Given the description of an element on the screen output the (x, y) to click on. 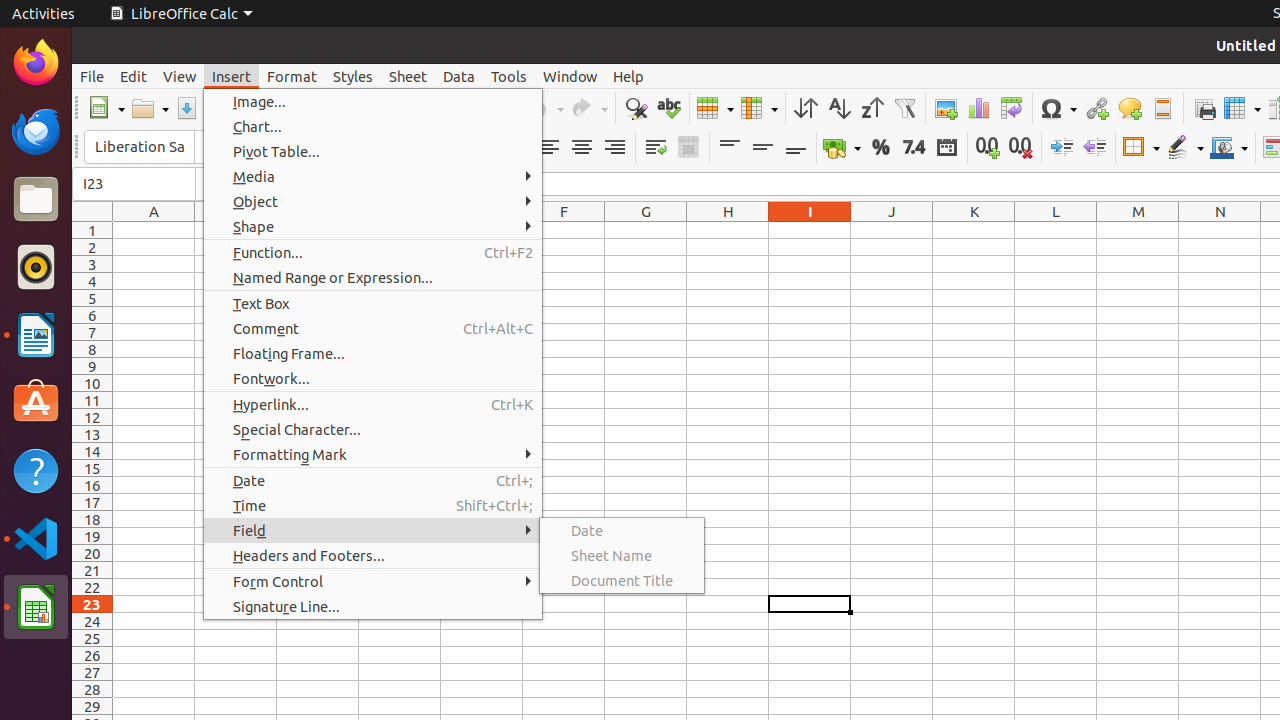
Freeze Rows and Columns Element type: push-button (1242, 108)
A1 Element type: table-cell (154, 230)
Edit Element type: menu (133, 76)
Align Top Element type: push-button (729, 147)
